Given the description of an element on the screen output the (x, y) to click on. 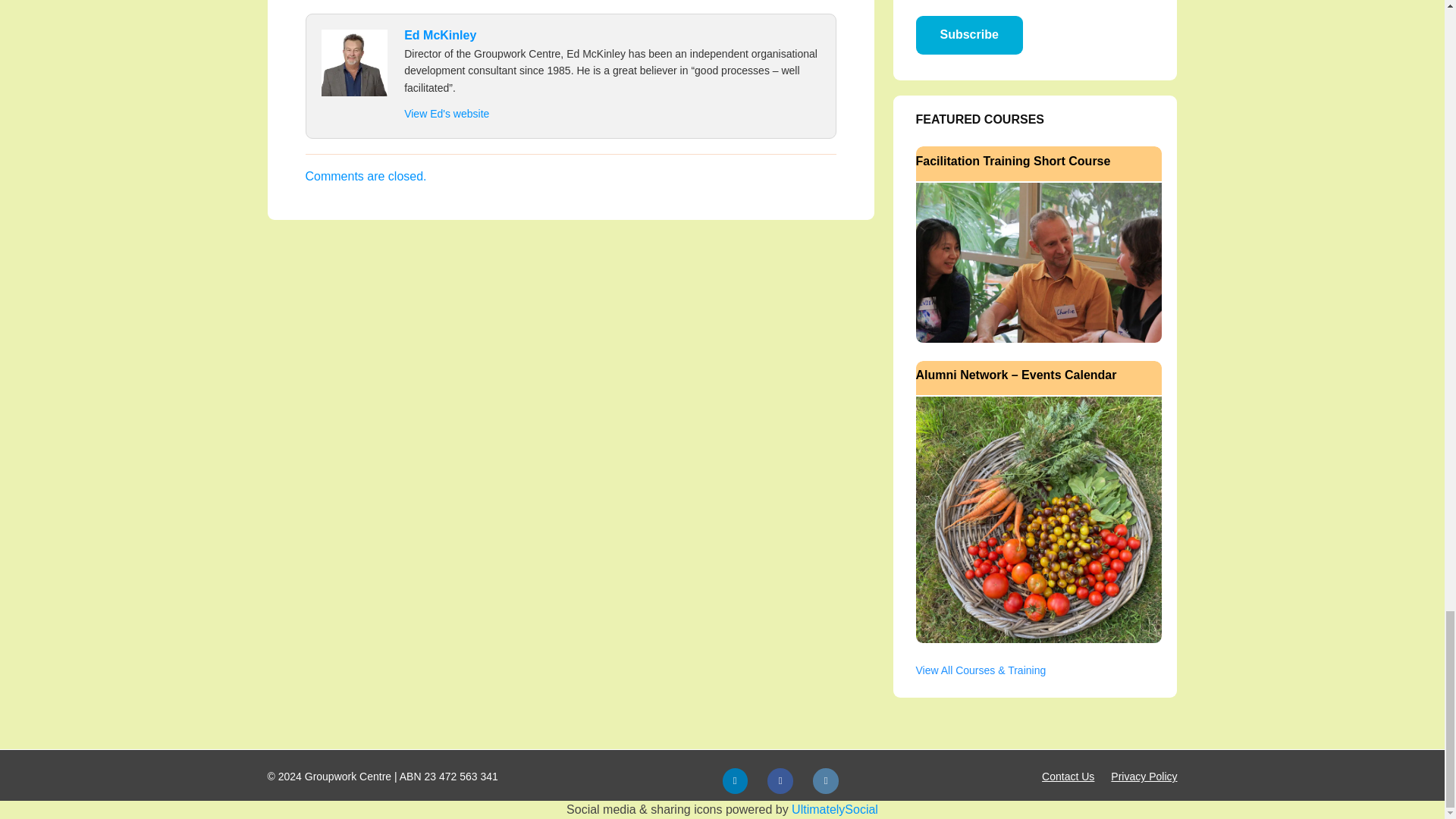
Posts by Ed McKinley (440, 34)
Subscribe (969, 34)
Instagram (825, 780)
Facilitation Training Short Course (1038, 261)
LinkedIn (734, 780)
Facebook (779, 780)
